Given the description of an element on the screen output the (x, y) to click on. 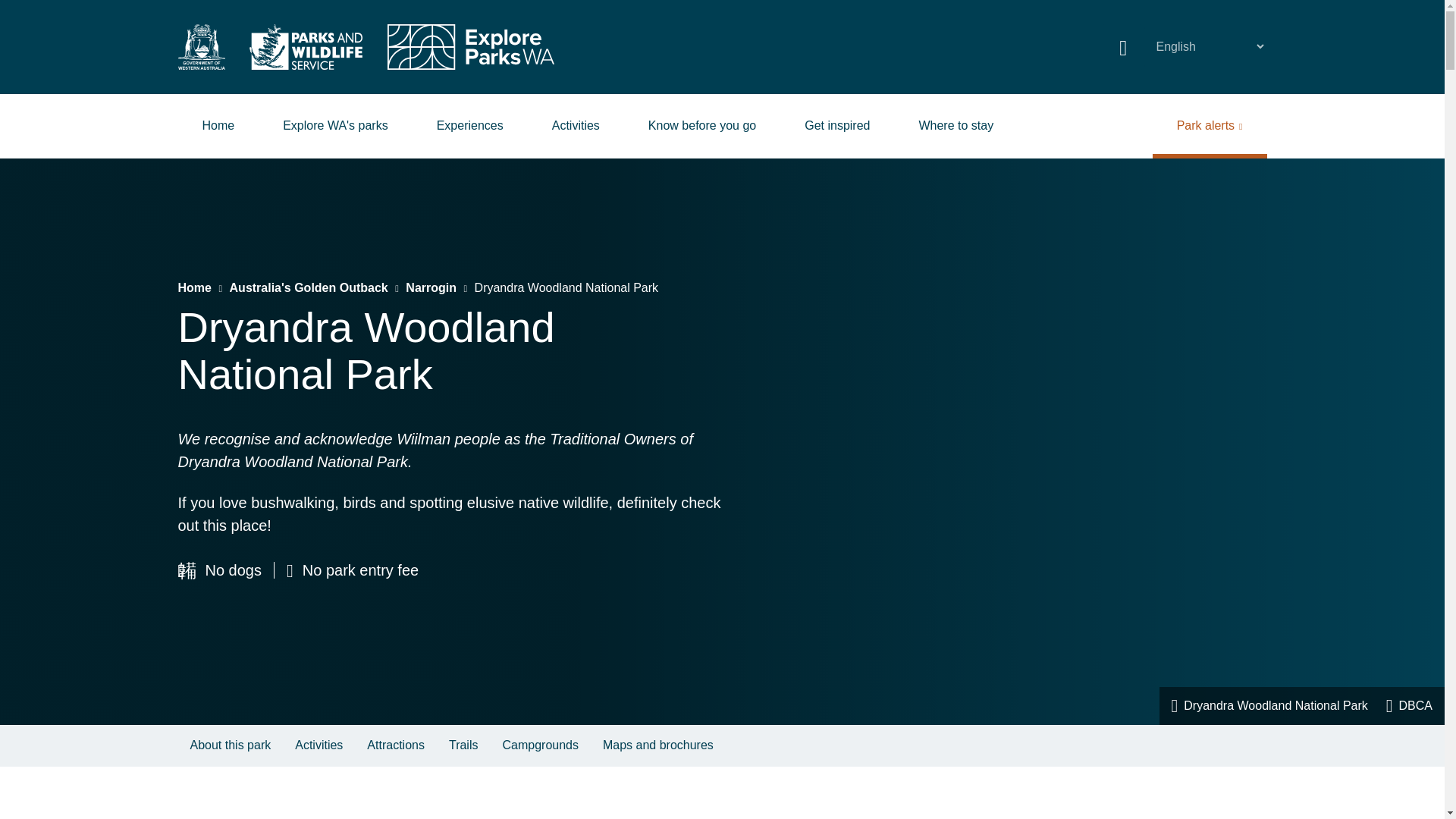
Attractions (395, 745)
Parks and Wildlife Service logo (304, 46)
Activities (318, 745)
Narrogin (431, 287)
Campgrounds (540, 745)
Explore Parks WA logo (470, 46)
Get inspired (836, 126)
Australia's Golden Outback (309, 287)
Maps and brochures (658, 745)
